Given the description of an element on the screen output the (x, y) to click on. 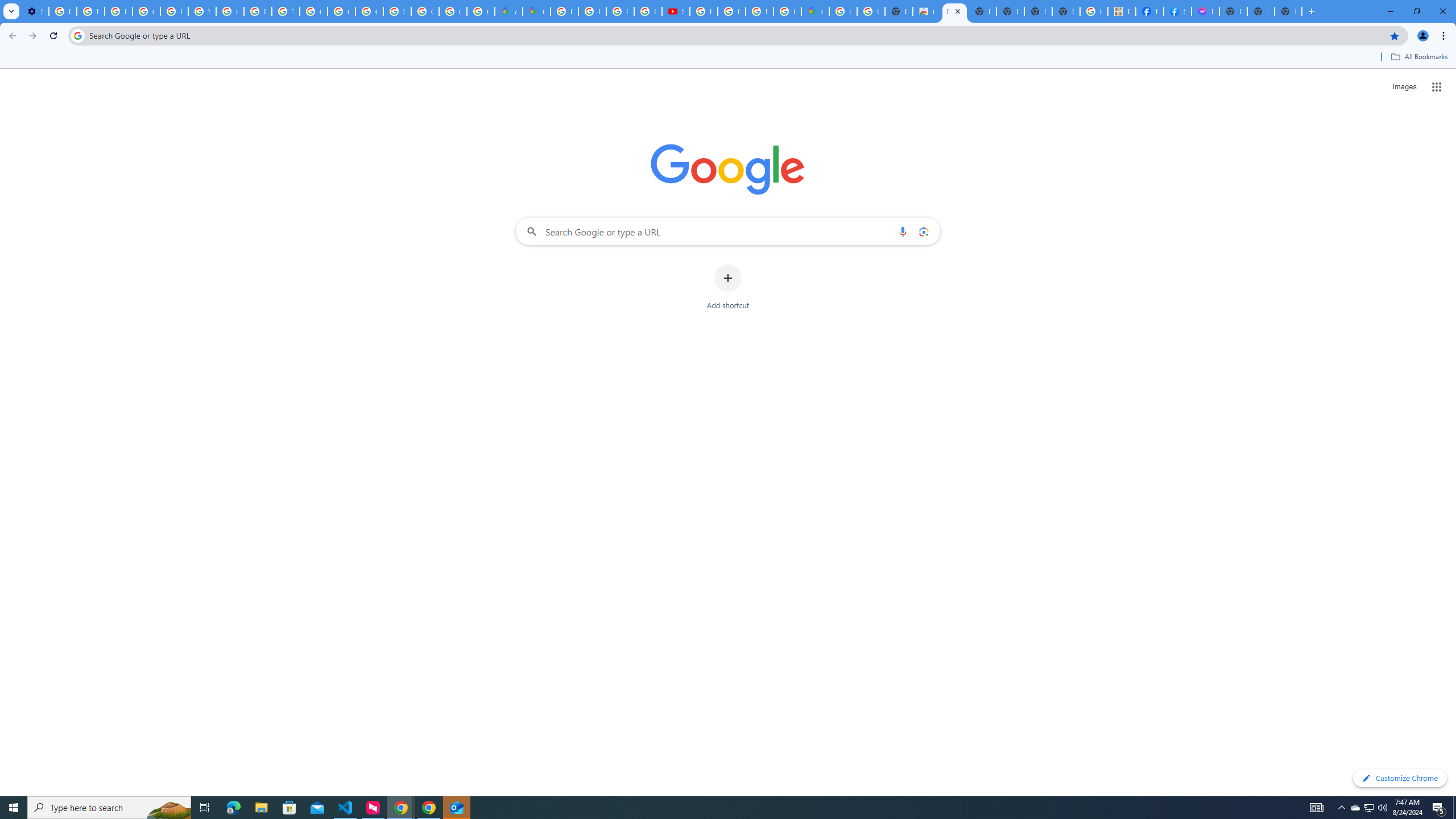
Settings - Customize profile (34, 11)
How Chrome protects your passwords - Google Chrome Help (703, 11)
YouTube (202, 11)
Privacy Help Center - Policies Help (257, 11)
